Given the description of an element on the screen output the (x, y) to click on. 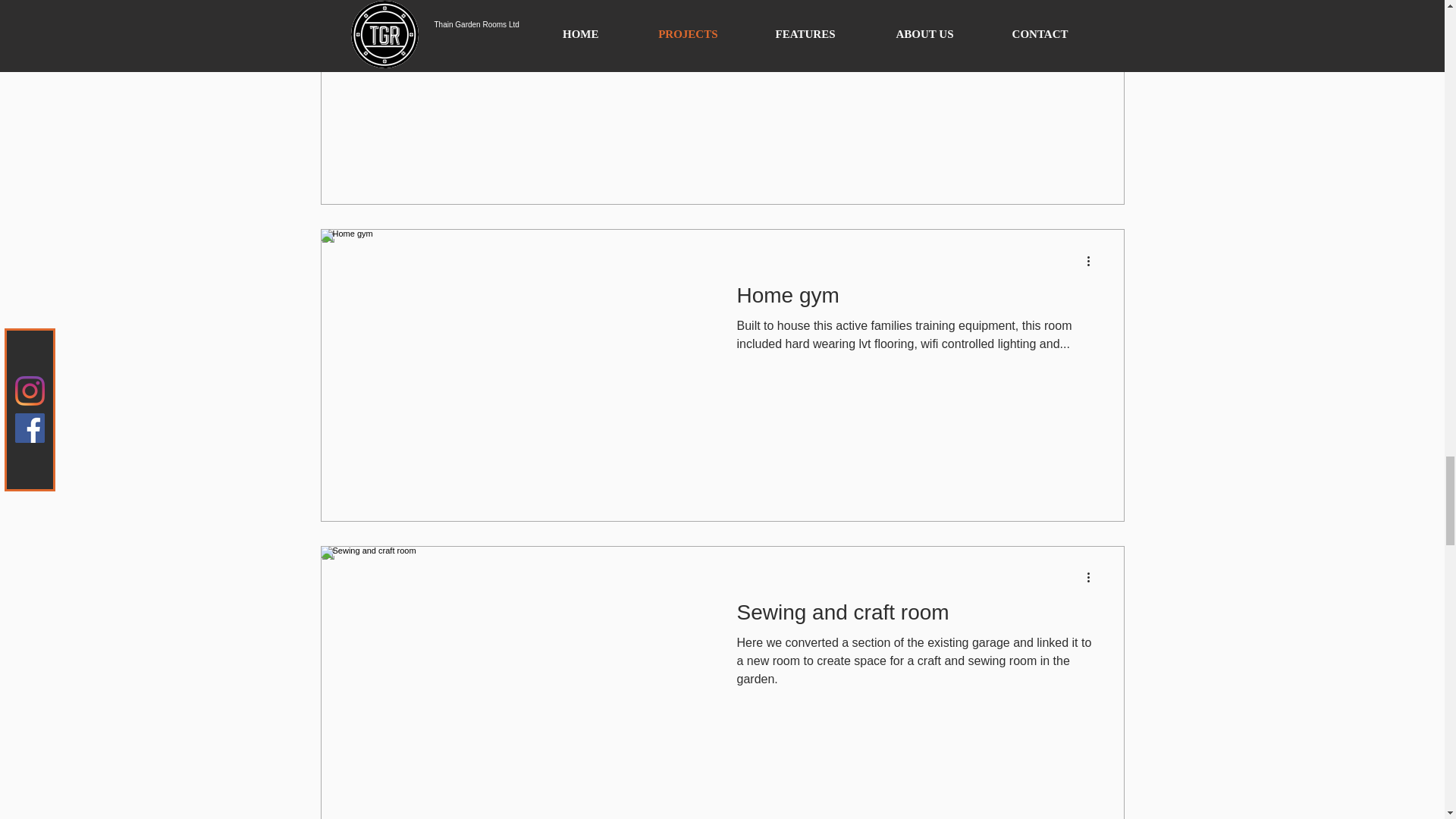
Sewing and craft room (916, 615)
Home gym (916, 299)
